Given the description of an element on the screen output the (x, y) to click on. 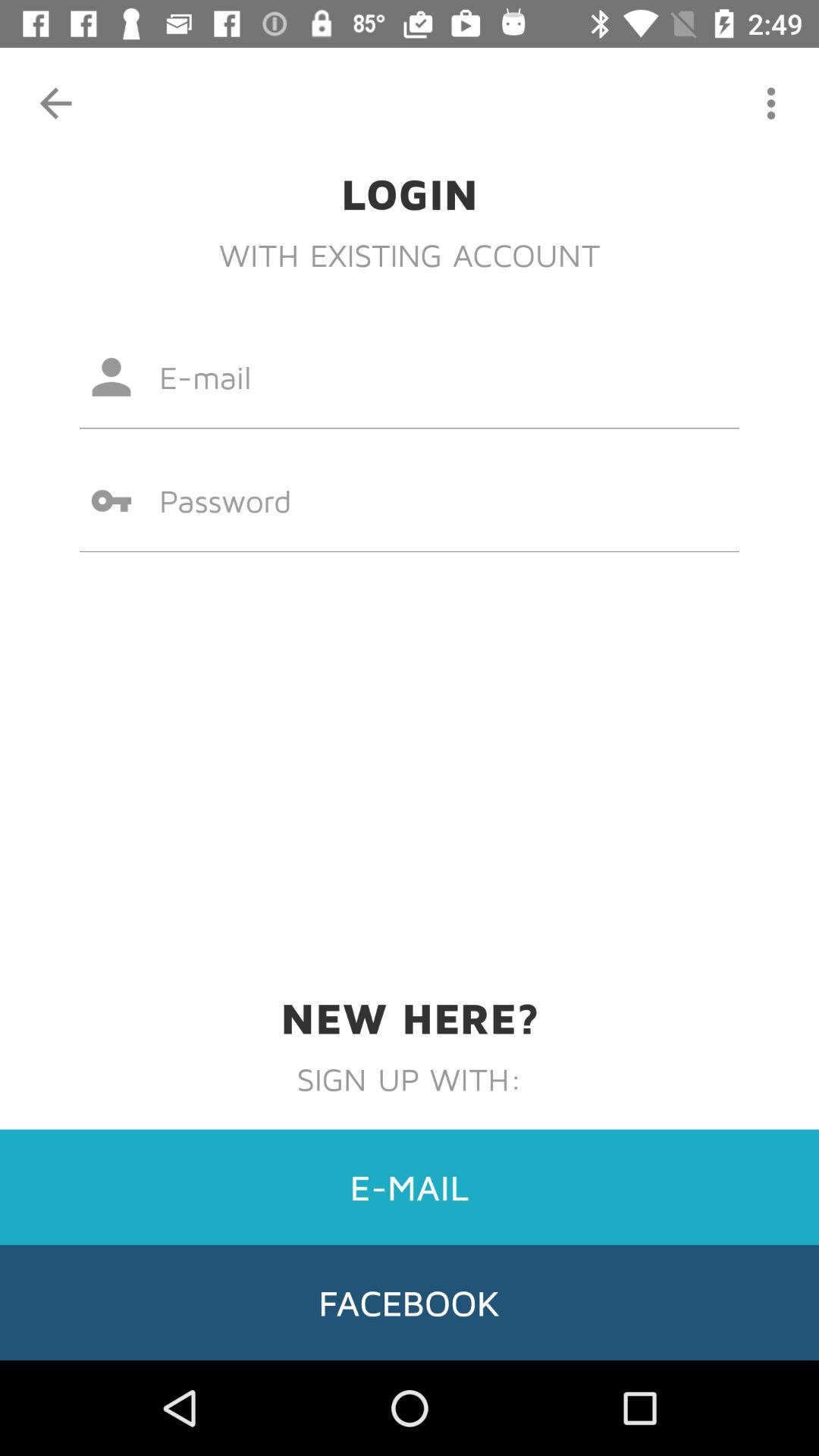
swipe until facebook (409, 1302)
